Given the description of an element on the screen output the (x, y) to click on. 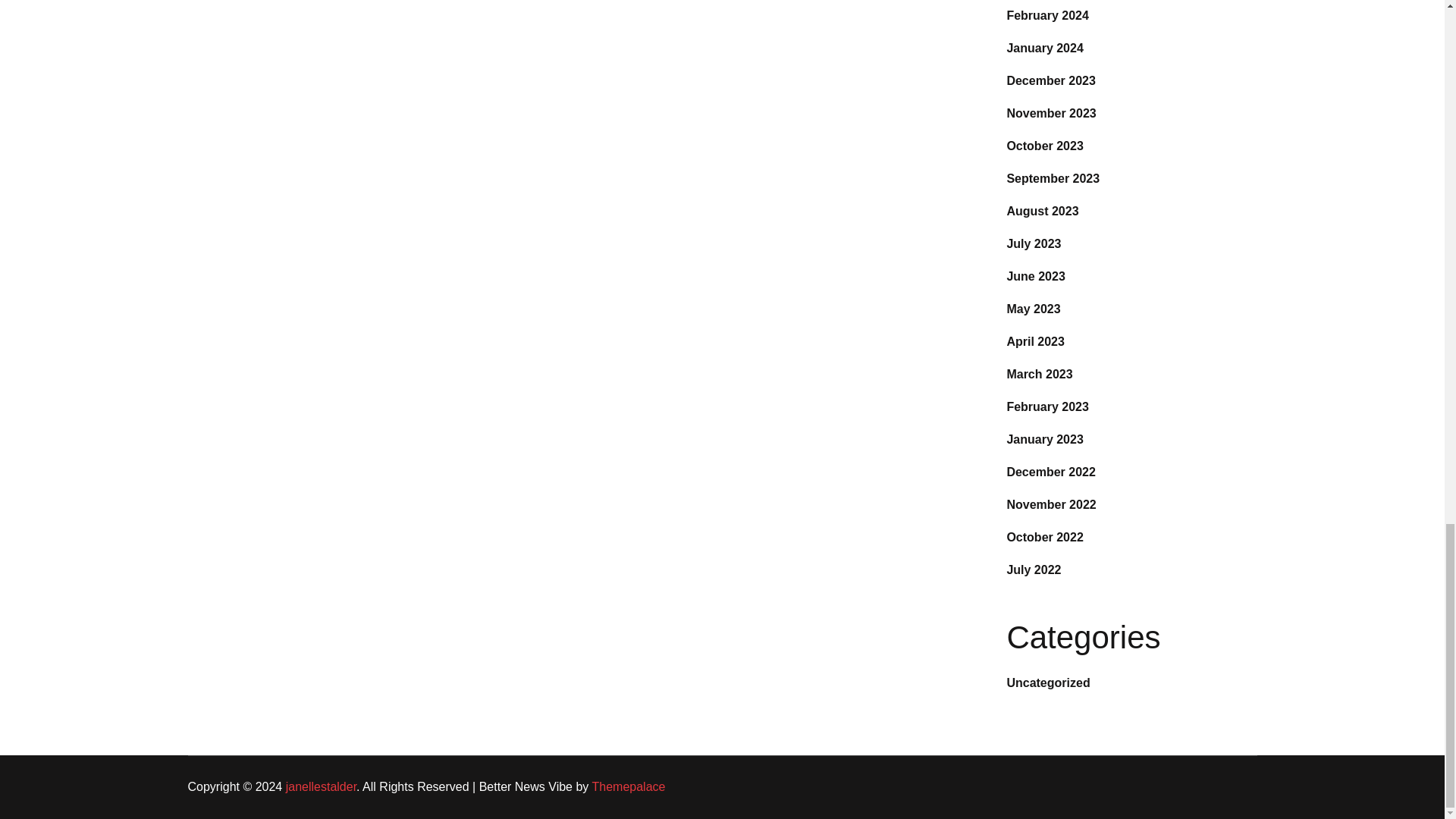
April 2023 (1035, 341)
December 2022 (1050, 472)
March 2023 (1038, 373)
May 2023 (1032, 308)
September 2023 (1052, 178)
February 2023 (1047, 406)
January 2023 (1044, 439)
January 2024 (1044, 47)
June 2023 (1035, 276)
December 2023 (1050, 80)
